Given the description of an element on the screen output the (x, y) to click on. 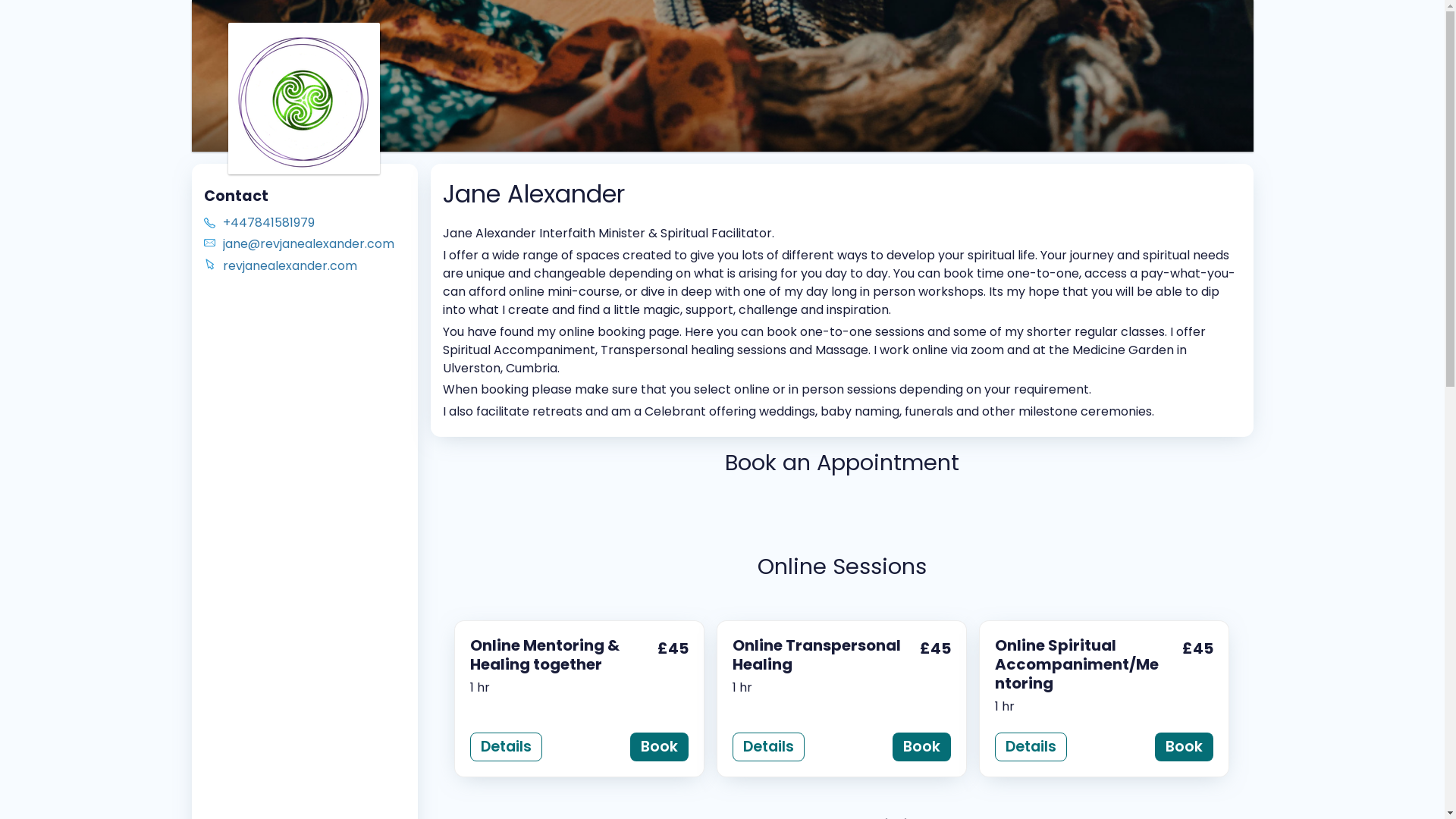
Skip to booking section Element type: text (286, 23)
revjanealexander.com Element type: text (314, 266)
+447841581979 Element type: text (314, 222)
jane@revjanealexander.com Element type: text (314, 244)
